Given the description of an element on the screen output the (x, y) to click on. 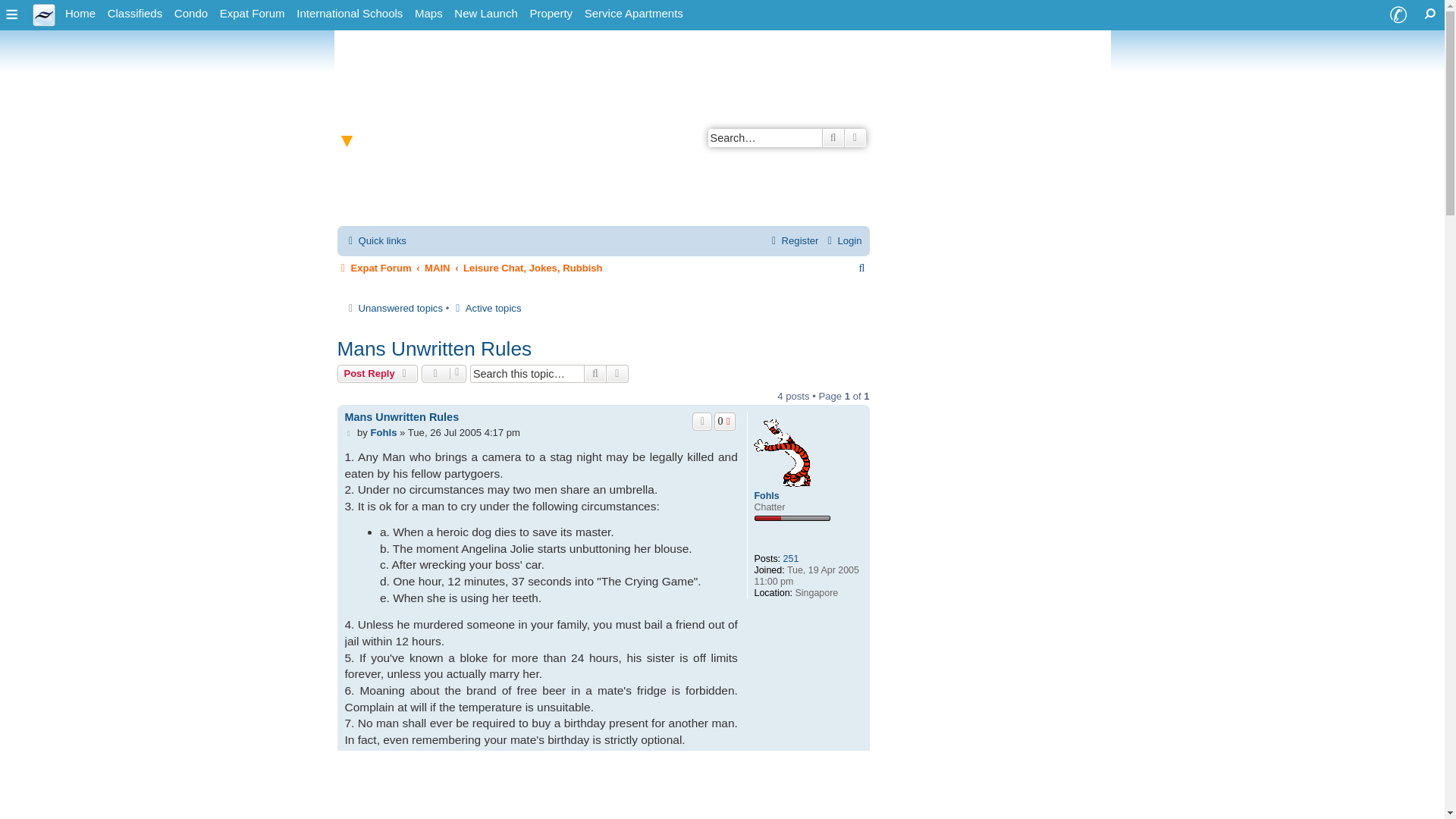
Singapore Condo Directory (191, 13)
New Launch (485, 13)
Singapore Property (550, 13)
Singapore Expats (80, 13)
Maps (428, 13)
Singapore Classified Ads (135, 13)
International Schools (349, 13)
Singapore Street Maps (428, 13)
Contact Us (1397, 15)
New Property Launch (485, 13)
Classifieds (135, 13)
Property (550, 13)
Home (80, 13)
Singapore Service Apartments (633, 13)
Expat Forum (252, 13)
